Given the description of an element on the screen output the (x, y) to click on. 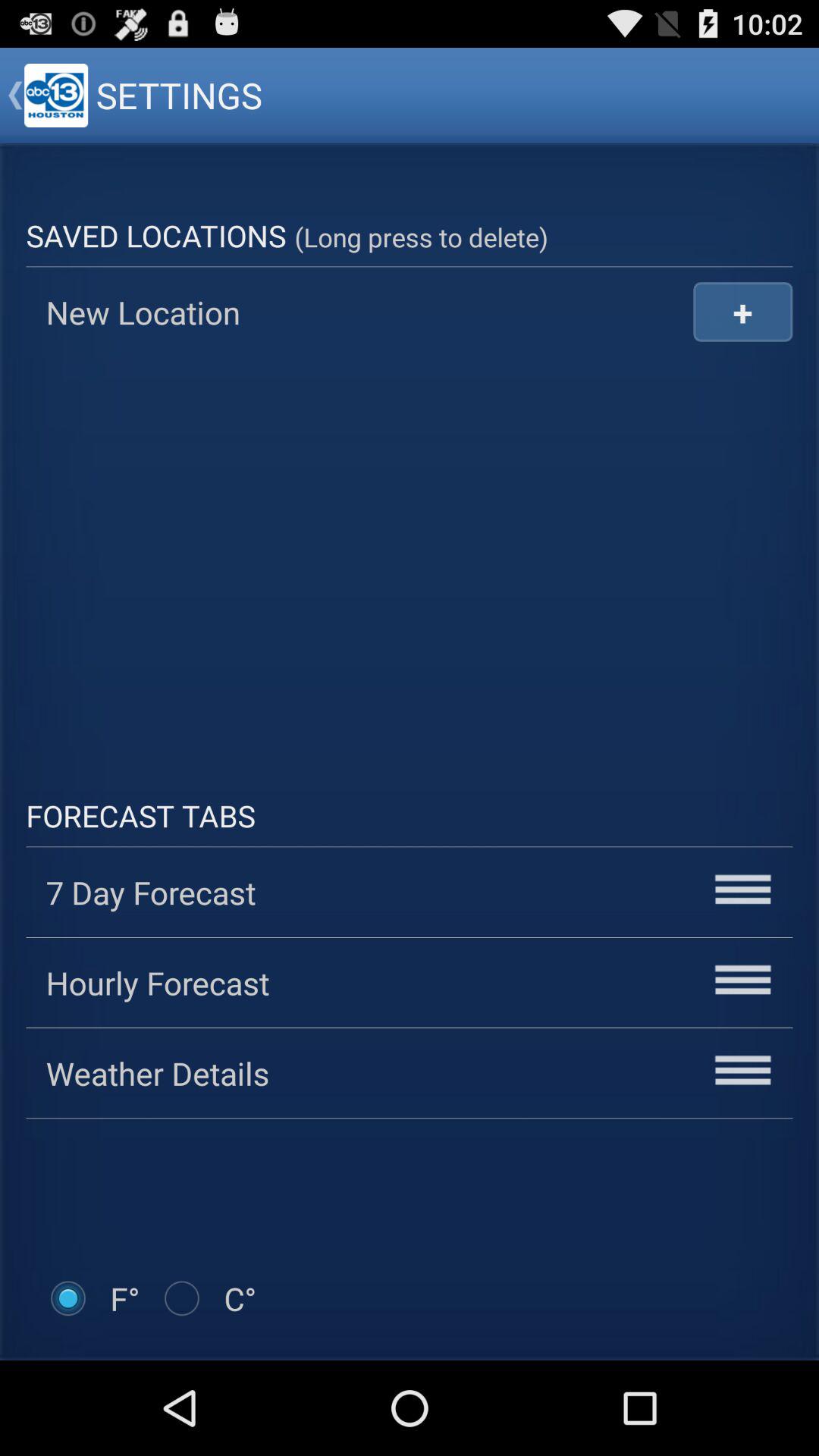
turn off the icon at the top right corner (742, 311)
